Given the description of an element on the screen output the (x, y) to click on. 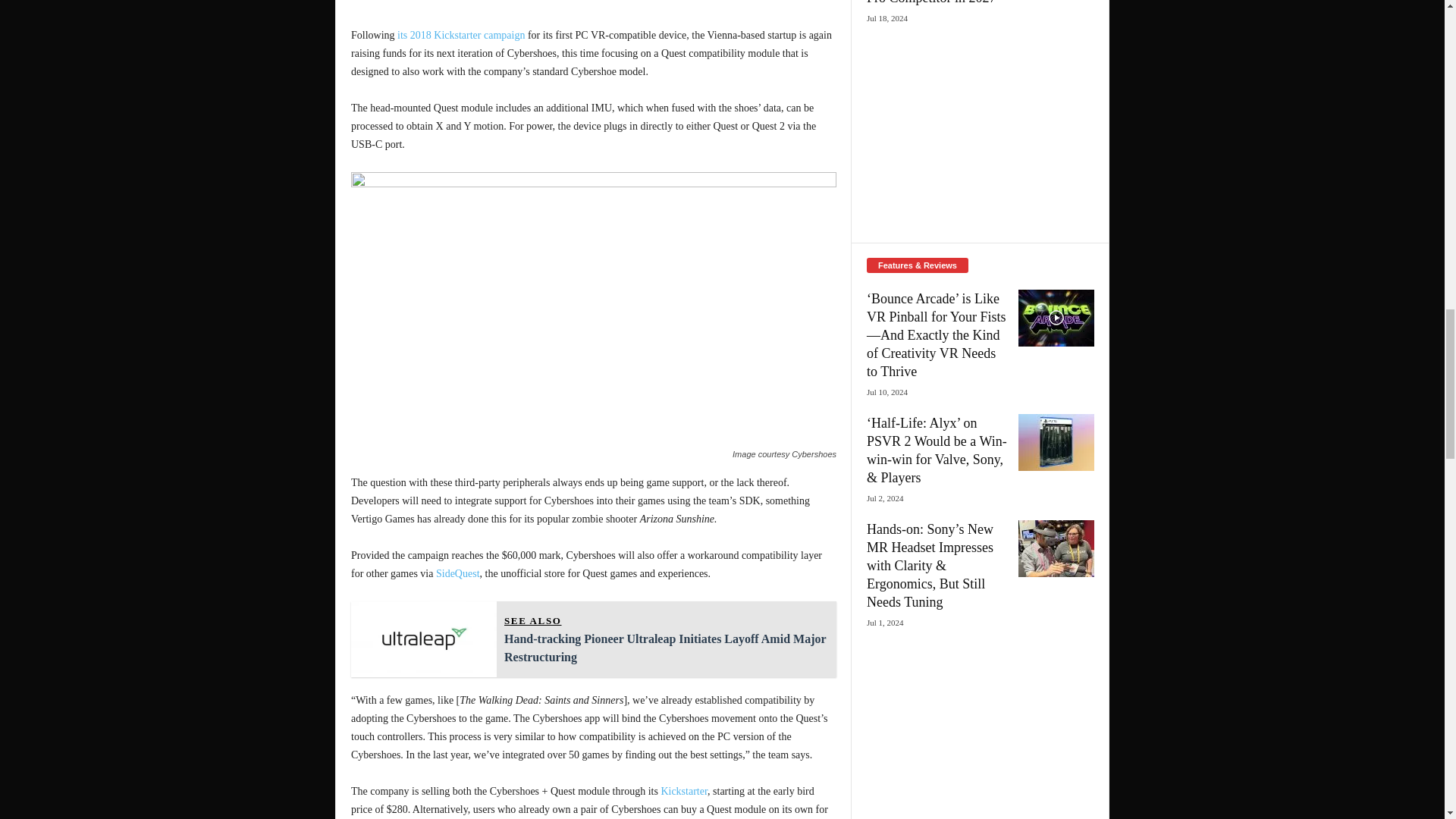
its 2018 Kickstarter campaign (460, 34)
